Given the description of an element on the screen output the (x, y) to click on. 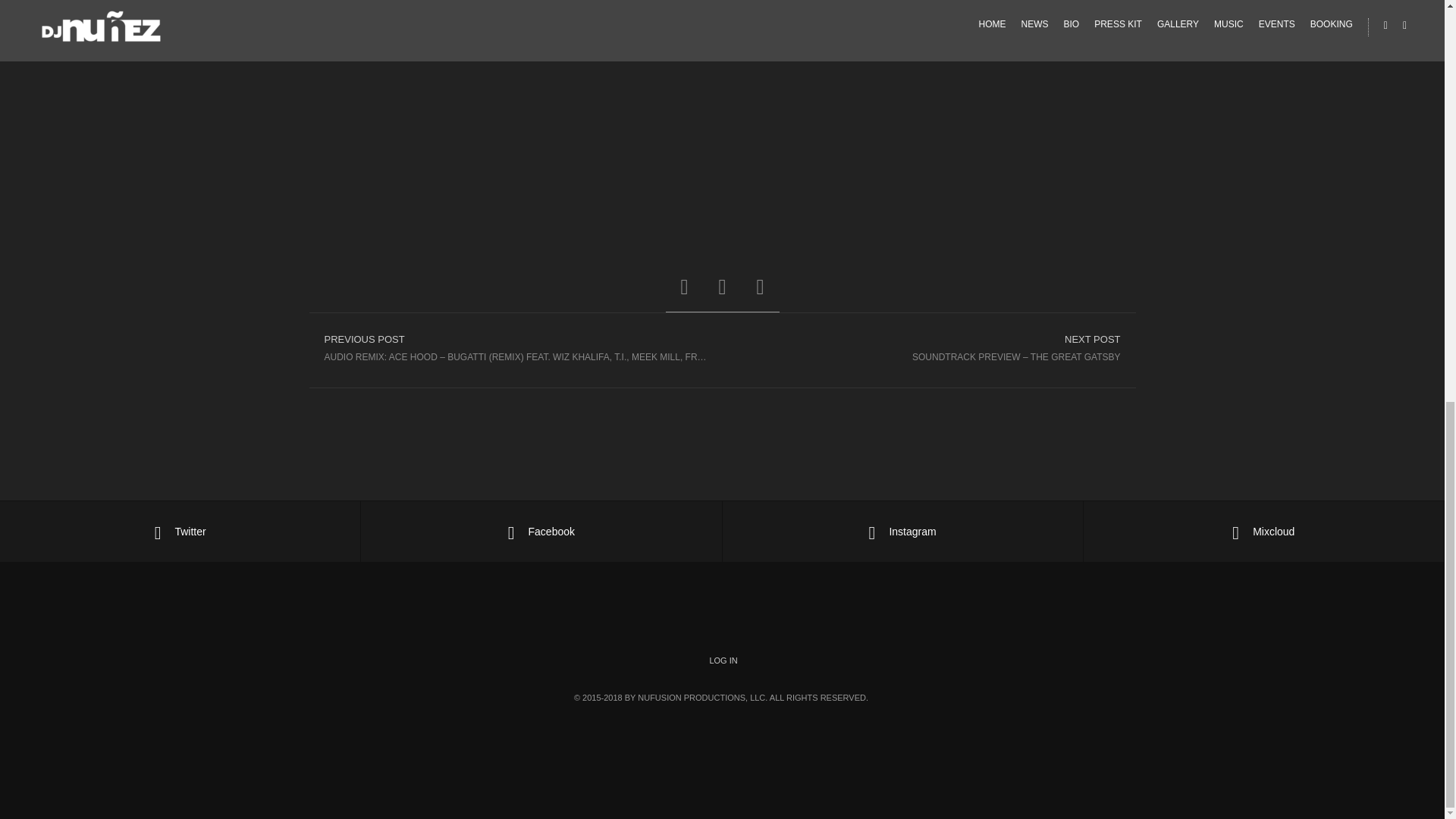
Instagram (902, 531)
Facebook (541, 531)
Twitter (180, 531)
LOG IN (722, 660)
